Given the description of an element on the screen output the (x, y) to click on. 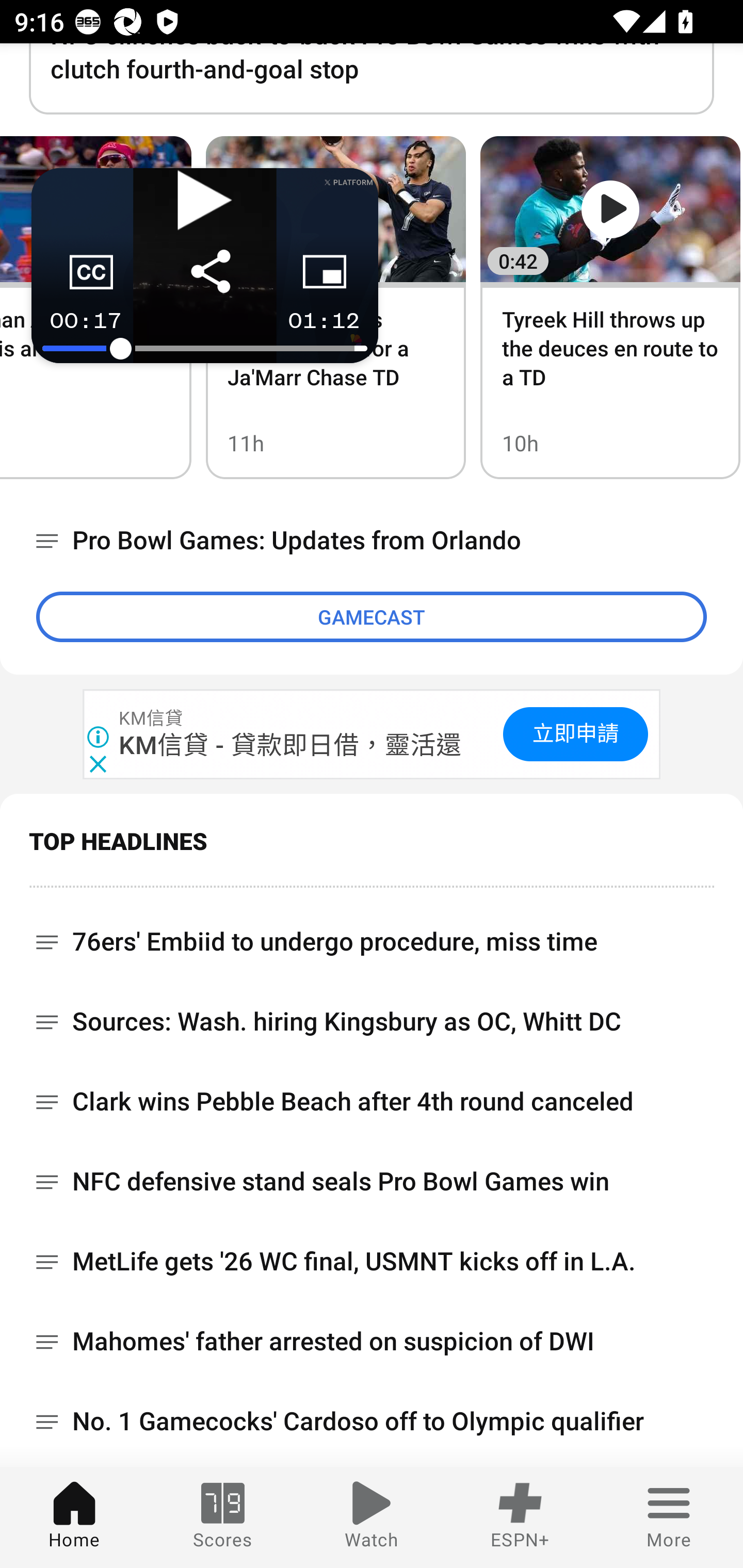
 Pro Bowl Games: Updates from Orlando (371, 540)
GAMECAST (371, 616)
KM信貸 (151, 718)
立即申請 (575, 734)
KM信貸 - 貸款即日借，靈活還 (290, 745)
 76ers' Embiid to undergo procedure, miss time (371, 934)
 Sources: Wash. hiring Kingsbury as OC, Whitt DC (371, 1021)
 Clark wins Pebble Beach after 4th round canceled (371, 1101)
 NFC defensive stand seals Pro Bowl Games win (371, 1181)
 Mahomes' father arrested on suspicion of DWI (371, 1341)
Scores (222, 1517)
Watch (371, 1517)
ESPN+ (519, 1517)
More (668, 1517)
